Given the description of an element on the screen output the (x, y) to click on. 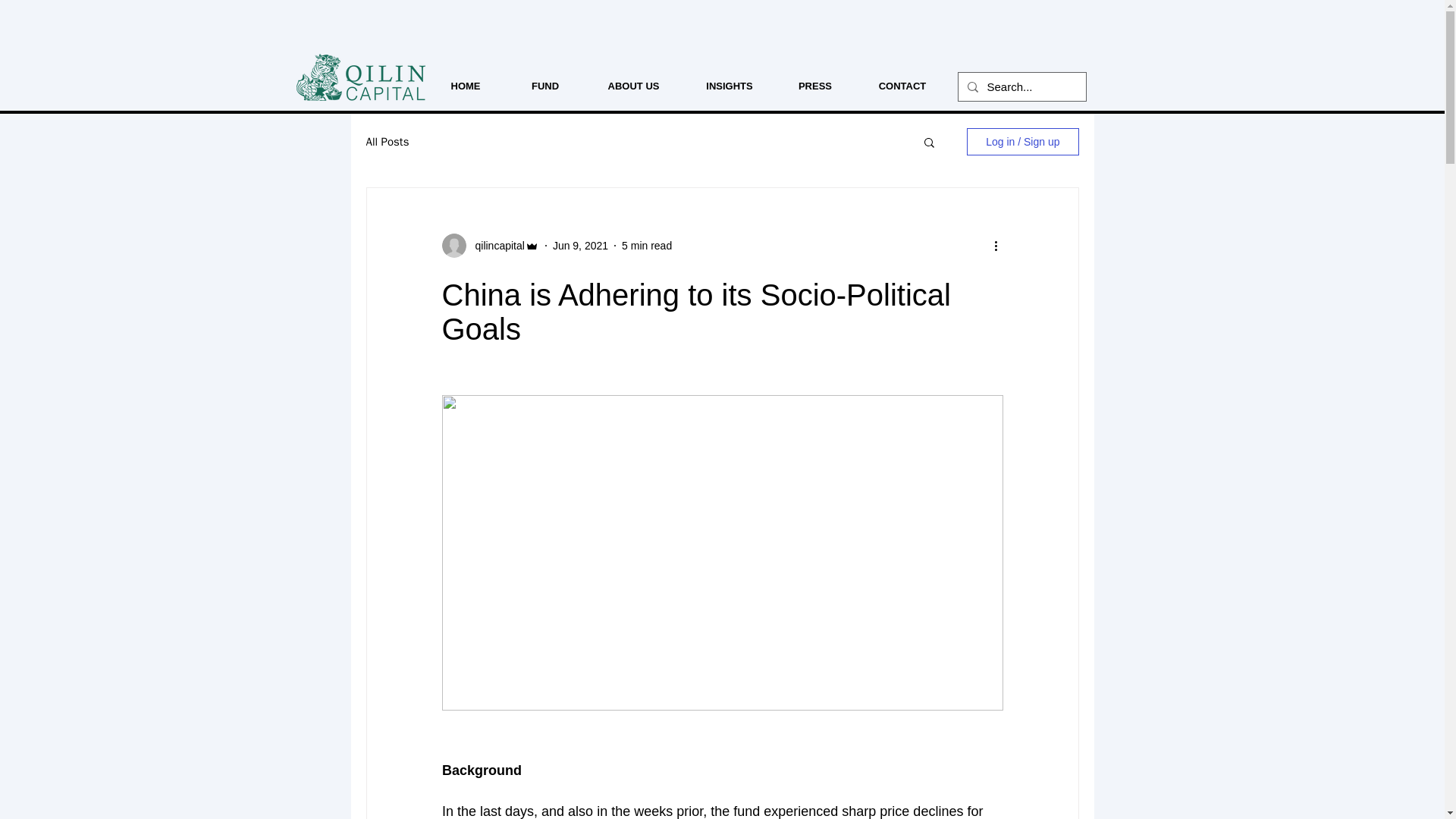
ABOUT US (632, 86)
All Posts (387, 142)
qilincapital (494, 245)
PRESS (815, 86)
FUND (545, 86)
CONTACT (901, 86)
INSIGHTS (729, 86)
5 min read (646, 245)
HOME (465, 86)
Jun 9, 2021 (580, 245)
